Given the description of an element on the screen output the (x, y) to click on. 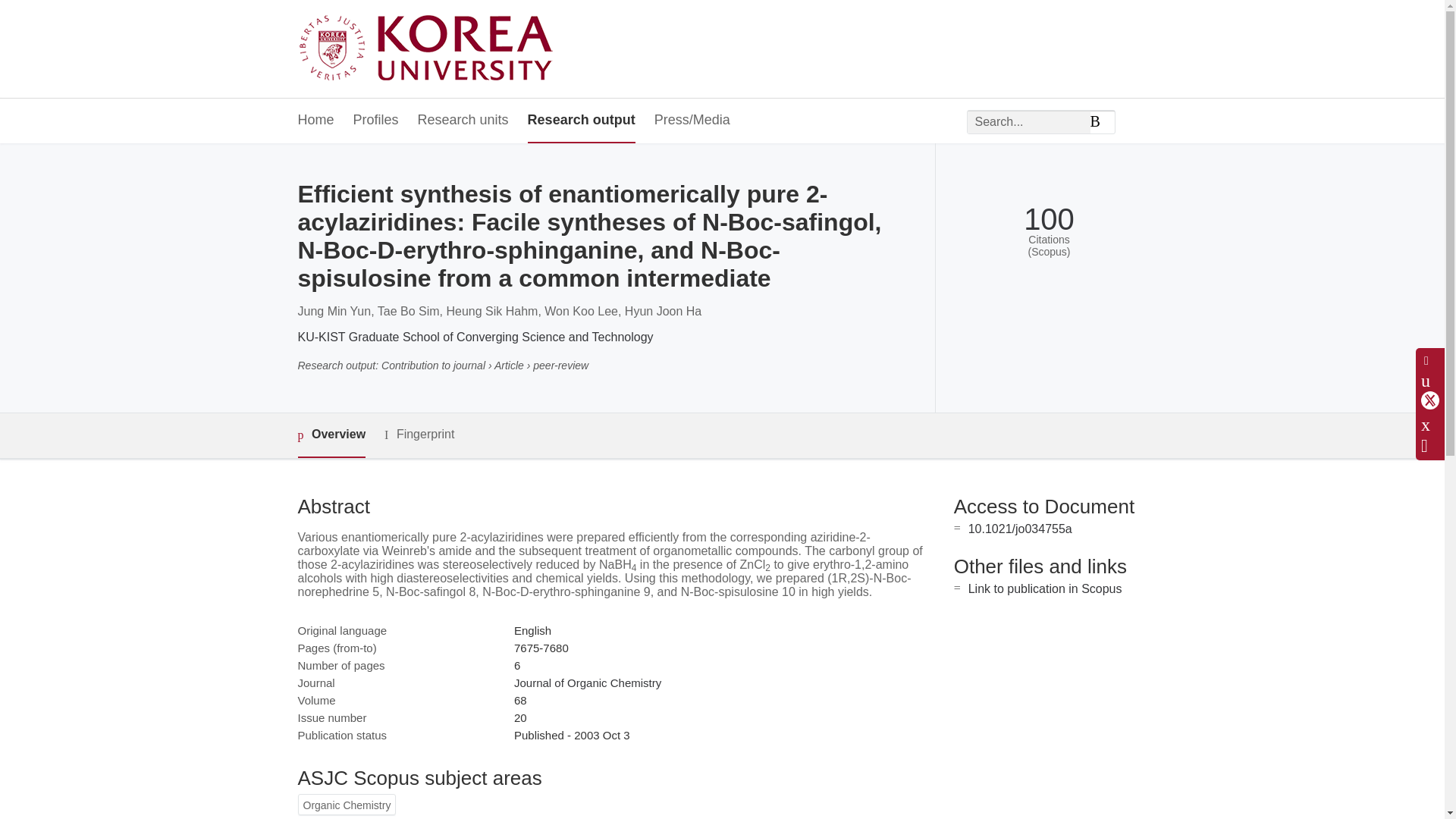
Korea University Home (429, 49)
Research output (580, 120)
Journal of Organic Chemistry (587, 682)
Research units (462, 120)
Fingerprint (419, 434)
Profiles (375, 120)
Link to publication in Scopus (1045, 588)
KU-KIST Graduate School of Converging Science and Technology (474, 336)
100 (1048, 219)
Overview (331, 435)
